Given the description of an element on the screen output the (x, y) to click on. 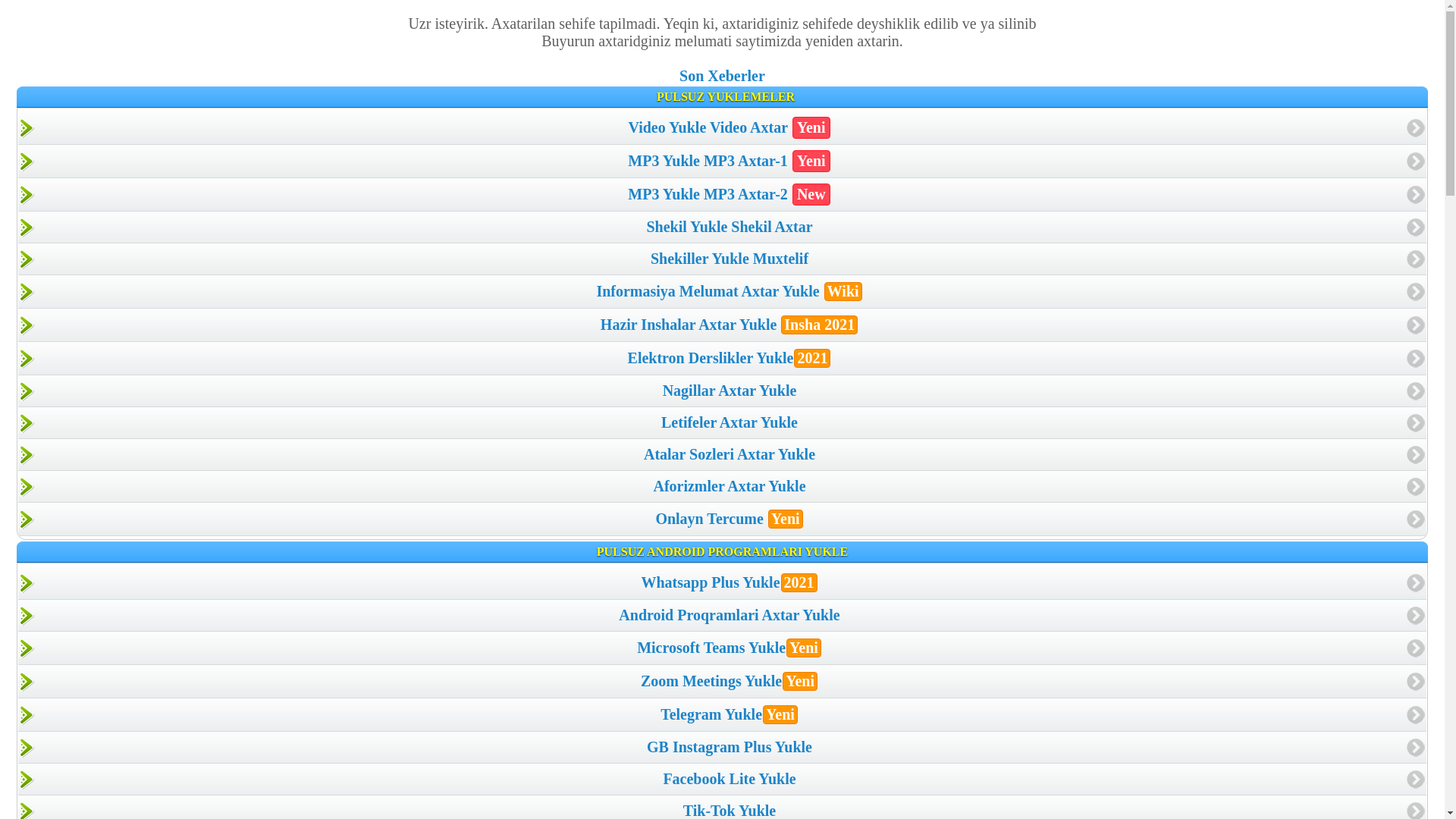
Onlayn Tercume Yeni Element type: text (722, 518)
Son Xeberler Element type: text (722, 75)
Zoom Meetings YukleYeni Element type: text (722, 681)
Informasiya Melumat Axtar Yukle Wiki Element type: text (722, 291)
Video Yukle Video Axtar Yeni Element type: text (722, 127)
Nagillar Axtar Yukle Element type: text (722, 390)
MP3 Yukle MP3 Axtar-1 Yeni Element type: text (722, 160)
Shekiller Yukle Muxtelif Element type: text (722, 258)
Aforizmler Axtar Yukle Element type: text (722, 486)
Whatsapp Plus Yukle2021 Element type: text (722, 582)
Android Proqramlari Axtar Yukle Element type: text (722, 614)
Atalar Sozleri Axtar Yukle Element type: text (722, 454)
Shekil Yukle Shekil Axtar Element type: text (722, 226)
Hazir Inshalar Axtar Yukle Insha 2021 Element type: text (722, 324)
Microsoft Teams YukleYeni Element type: text (722, 647)
Elektron Derslikler Yukle2021 Element type: text (722, 358)
Telegram YukleYeni Element type: text (722, 714)
GB Instagram Plus Yukle Element type: text (722, 746)
Letifeler Axtar Yukle Element type: text (722, 422)
Facebook Lite Yukle Element type: text (722, 778)
MP3 Yukle MP3 Axtar-2 New Element type: text (722, 194)
